Given the description of an element on the screen output the (x, y) to click on. 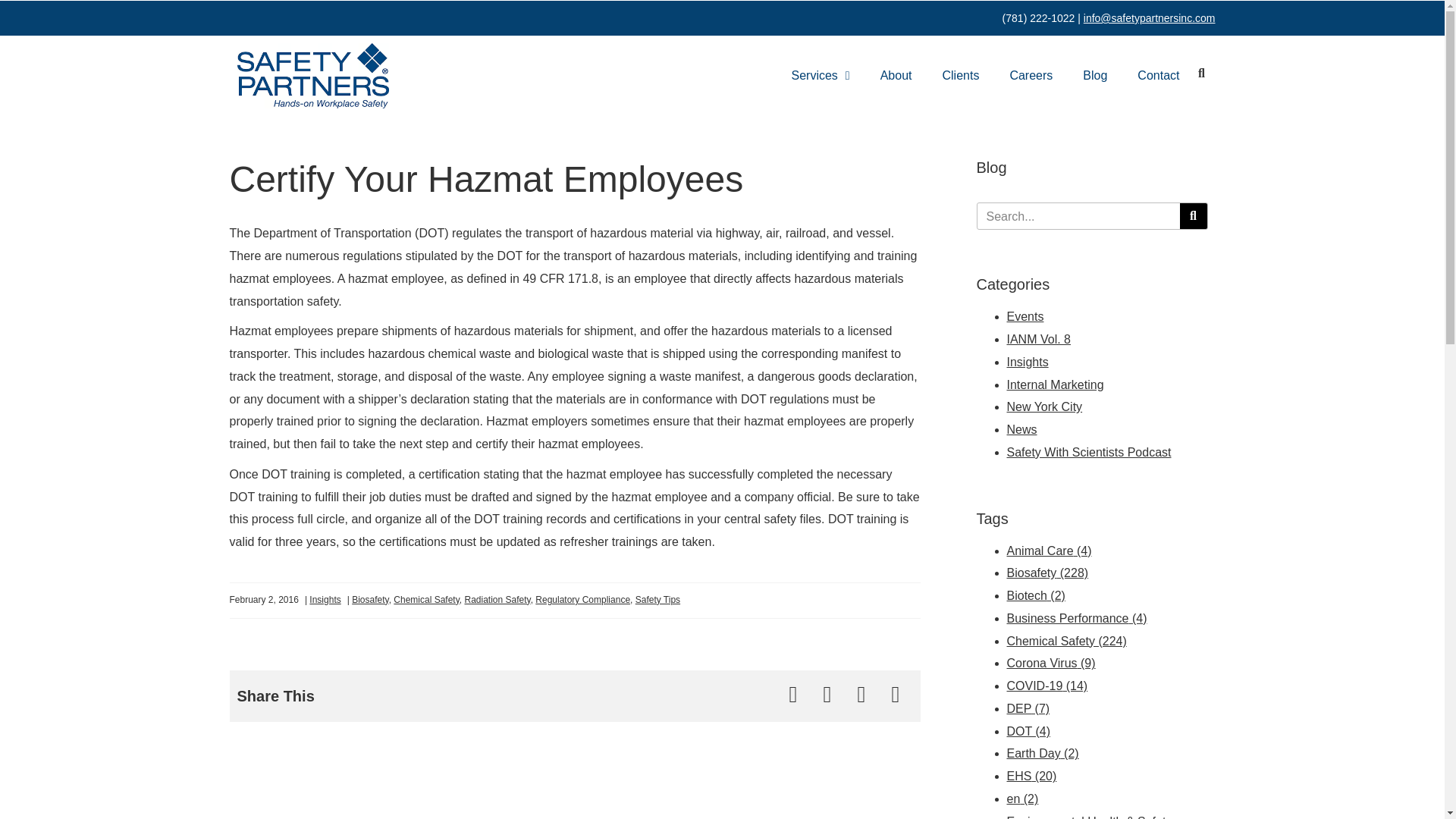
Careers (1031, 75)
Chemical Safety (425, 599)
Clients (961, 75)
Services (820, 75)
Biosafety (370, 599)
Radiation Safety (496, 599)
Events (1025, 316)
Safety Tips (656, 599)
Regulatory Compliance (582, 599)
Insights (324, 599)
